Given the description of an element on the screen output the (x, y) to click on. 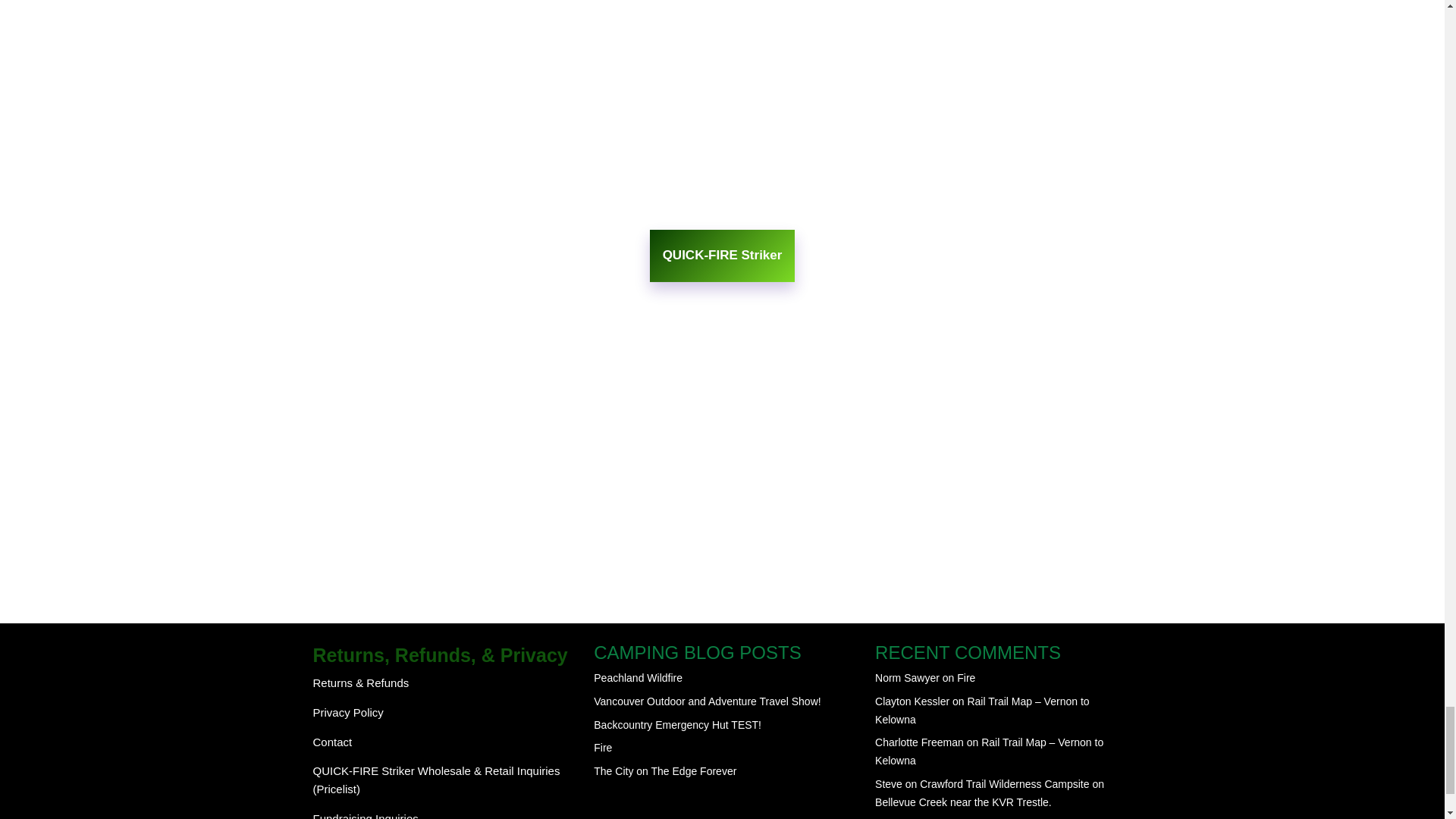
Contact us and find how we can donate to your organization. (365, 815)
Get QUICK-FIRE Strikers for your store! (436, 779)
TracksAndTrails.ca Adventures Product Refunds (361, 682)
Contact The Tracks And Trails Team (332, 741)
